Given the description of an element on the screen output the (x, y) to click on. 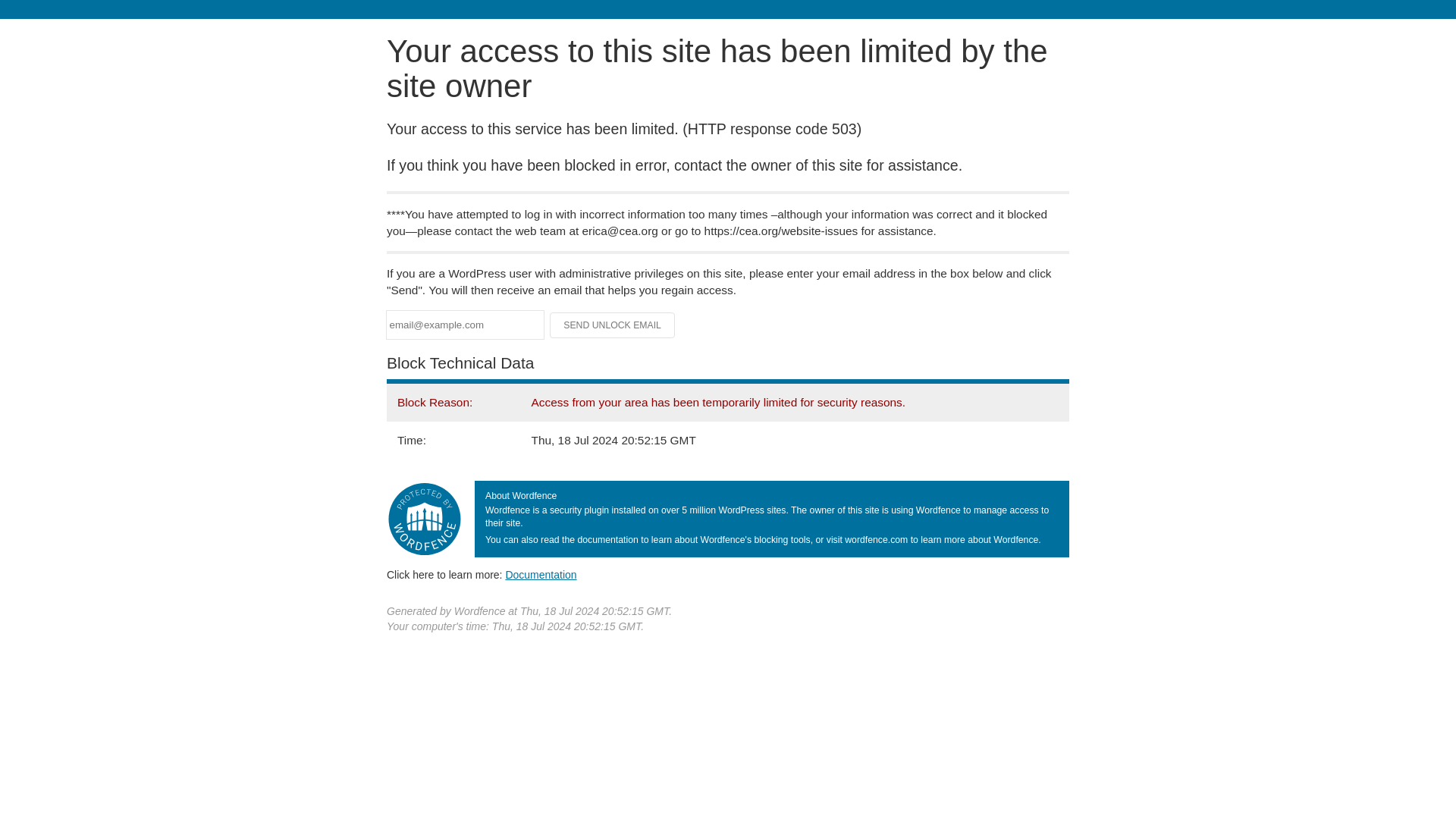
Send Unlock Email (612, 325)
Send Unlock Email (612, 325)
Documentation (540, 574)
